Given the description of an element on the screen output the (x, y) to click on. 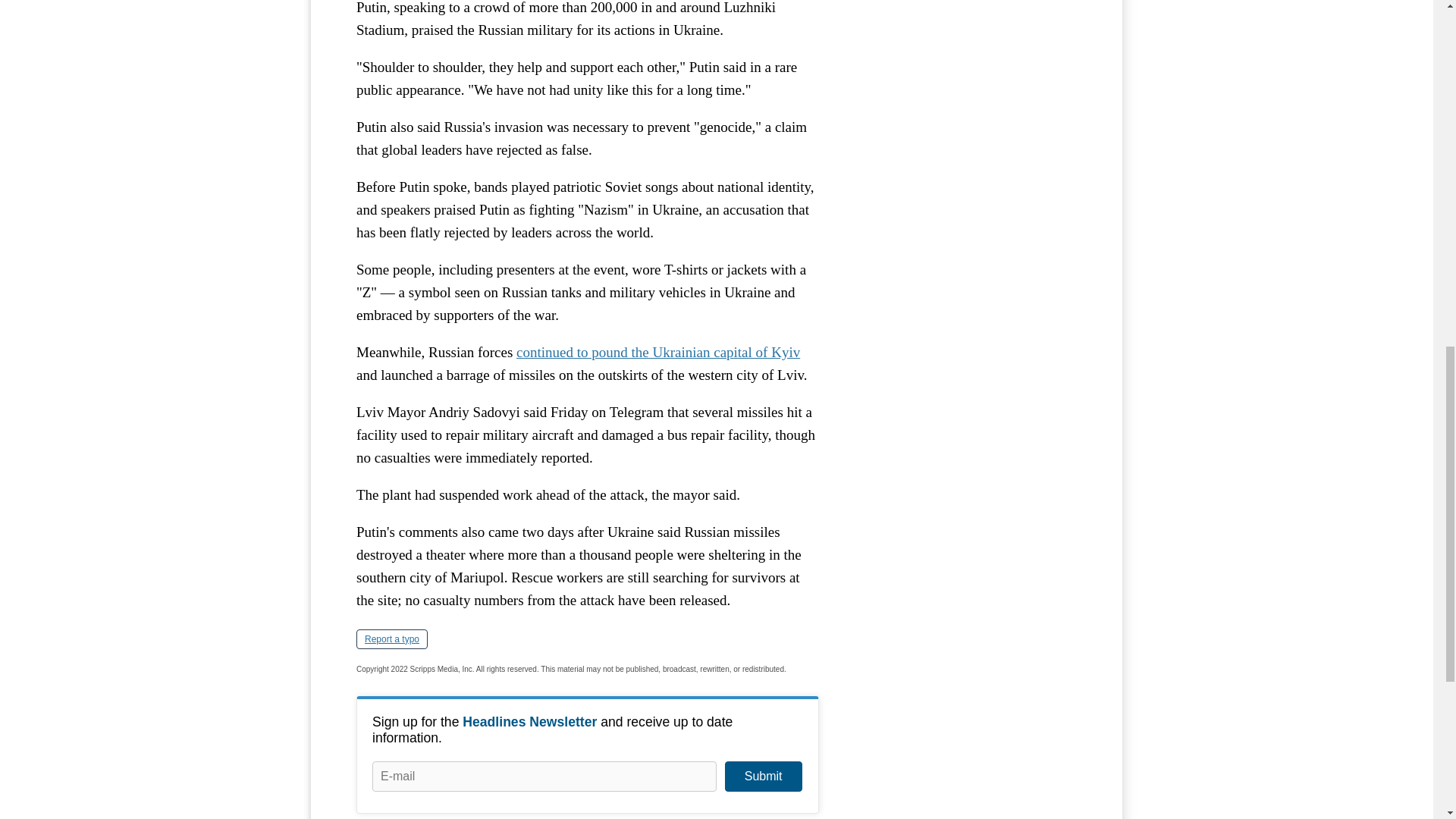
Submit (763, 776)
